Given the description of an element on the screen output the (x, y) to click on. 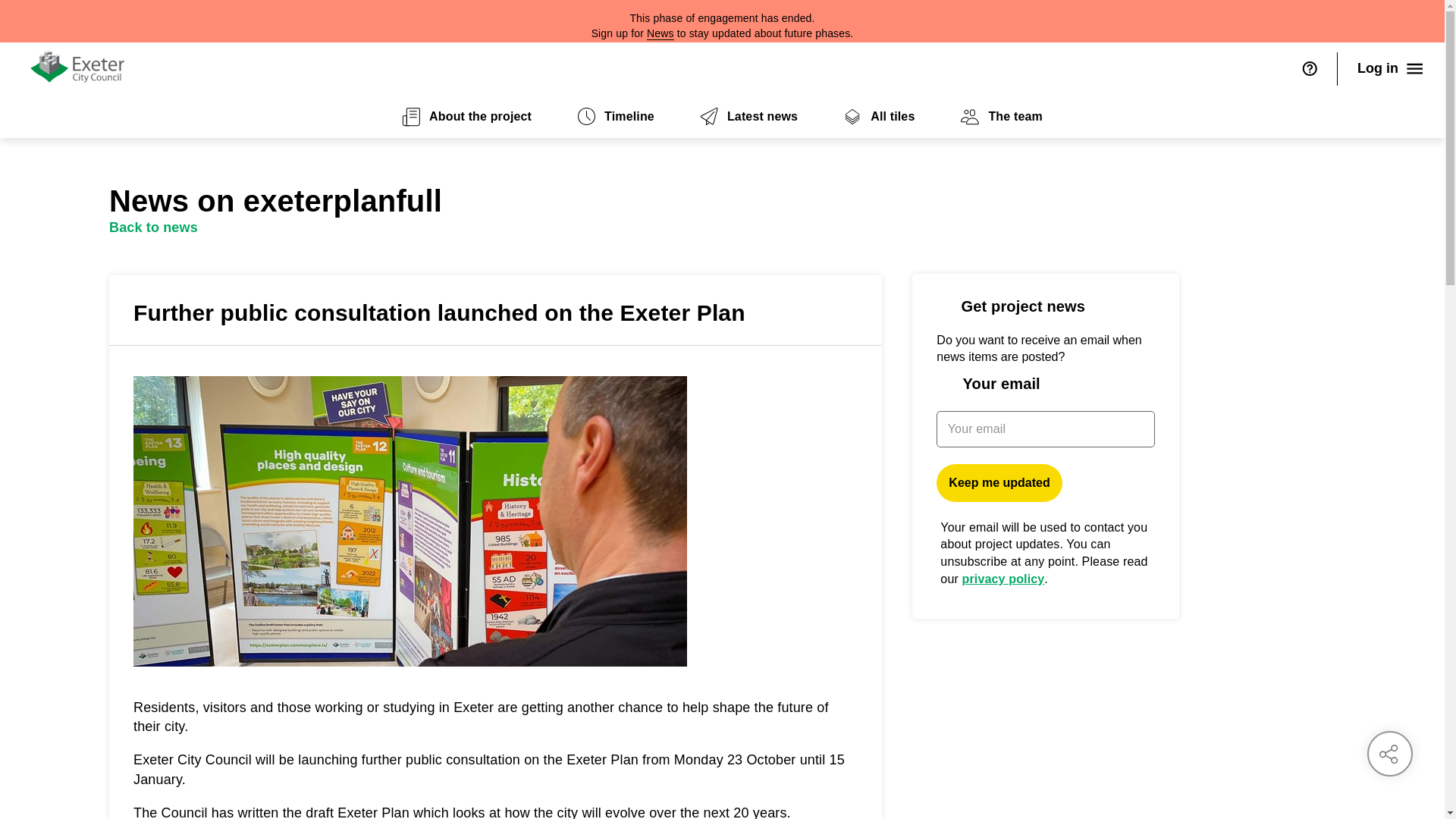
About the project (466, 116)
Keep me updated (998, 483)
privacy policy (1003, 578)
News (660, 33)
Latest news (748, 116)
Back to news (153, 227)
The team (1000, 116)
All tiles (878, 116)
Log in (1390, 68)
Timeline (615, 116)
